Given the description of an element on the screen output the (x, y) to click on. 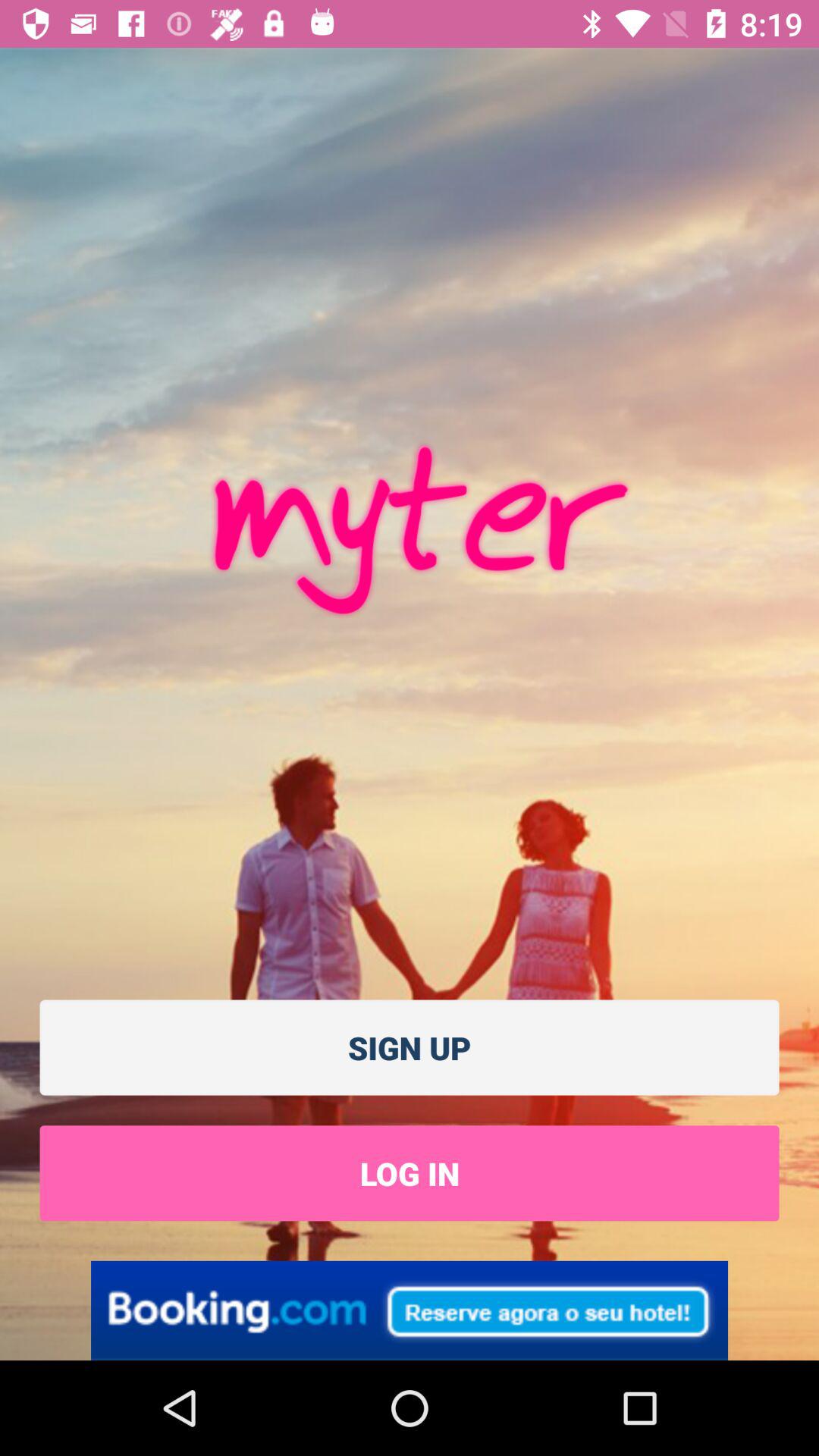
advertisement link (409, 1310)
